Given the description of an element on the screen output the (x, y) to click on. 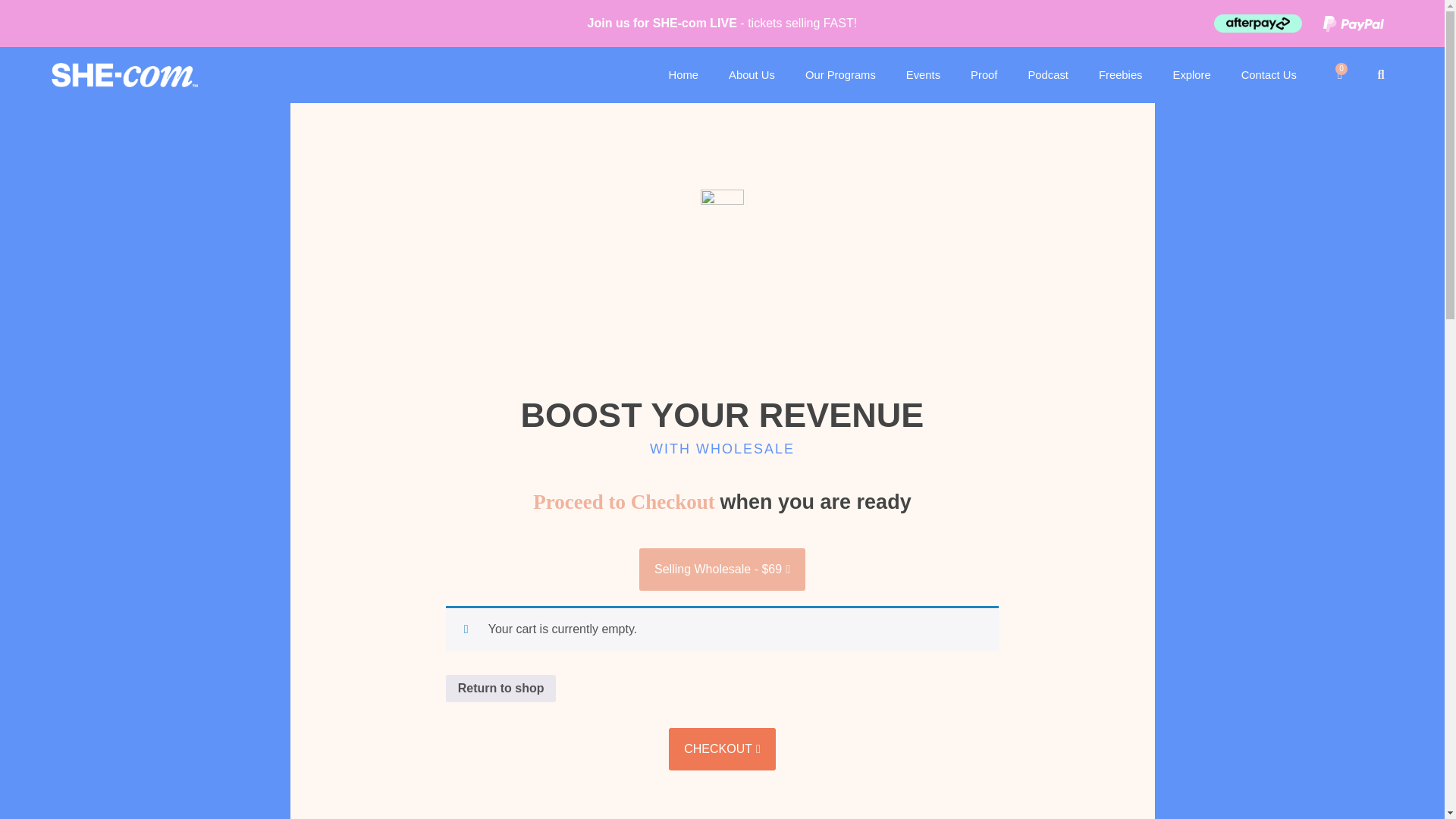
Join us for SHE-com LIVE - tickets selling FAST! (722, 22)
Our Programs (840, 74)
Freebies (1120, 74)
Proof (983, 74)
Contact Us (1268, 74)
Explore (1191, 74)
Events (923, 74)
Podcast (1047, 74)
Home (683, 74)
About Us (751, 74)
